Given the description of an element on the screen output the (x, y) to click on. 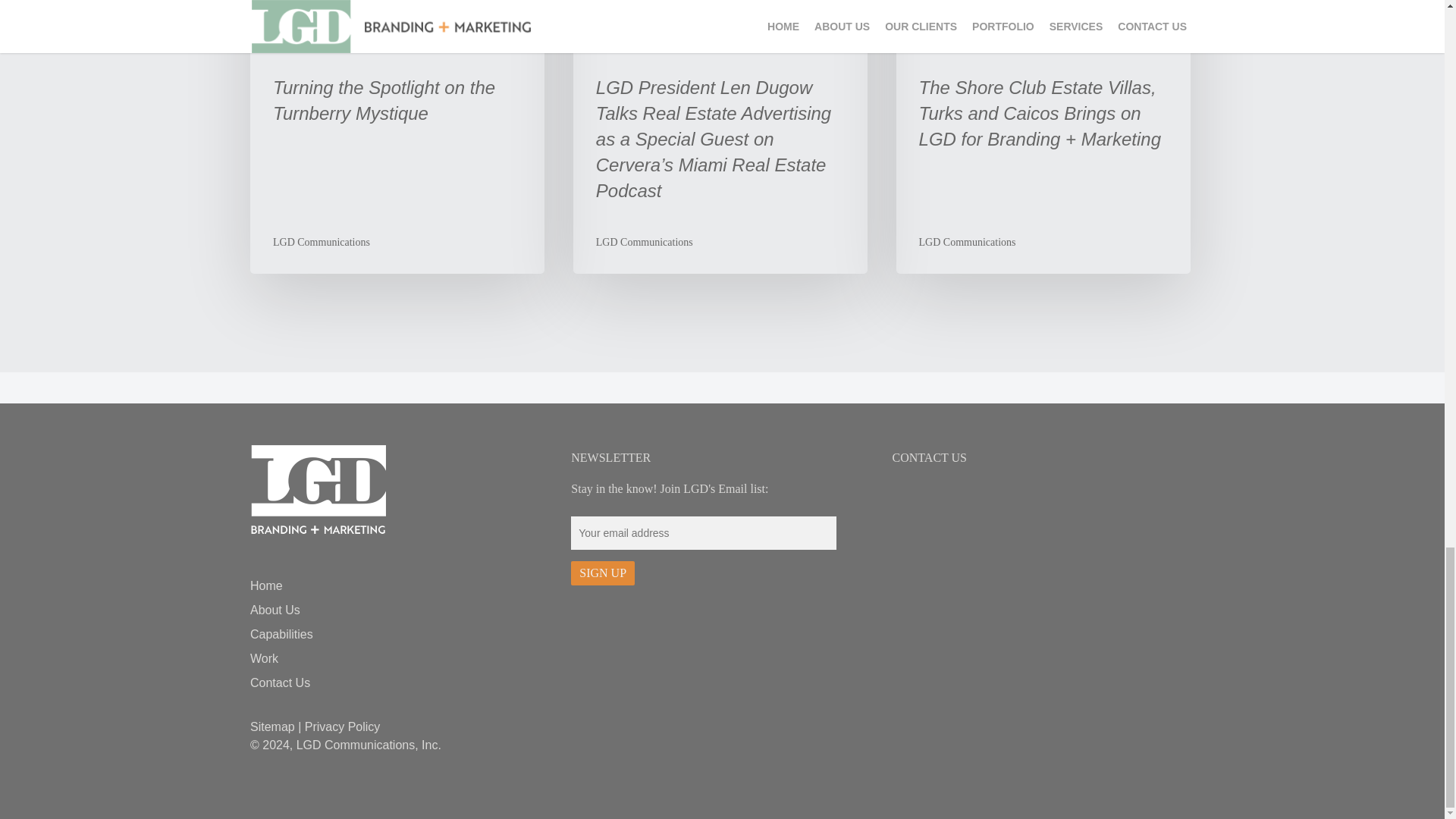
LGD Communications (967, 242)
LGD Communications (321, 242)
LGD Communications (644, 242)
About Us (400, 610)
Sign up (602, 573)
Home (400, 586)
